Given the description of an element on the screen output the (x, y) to click on. 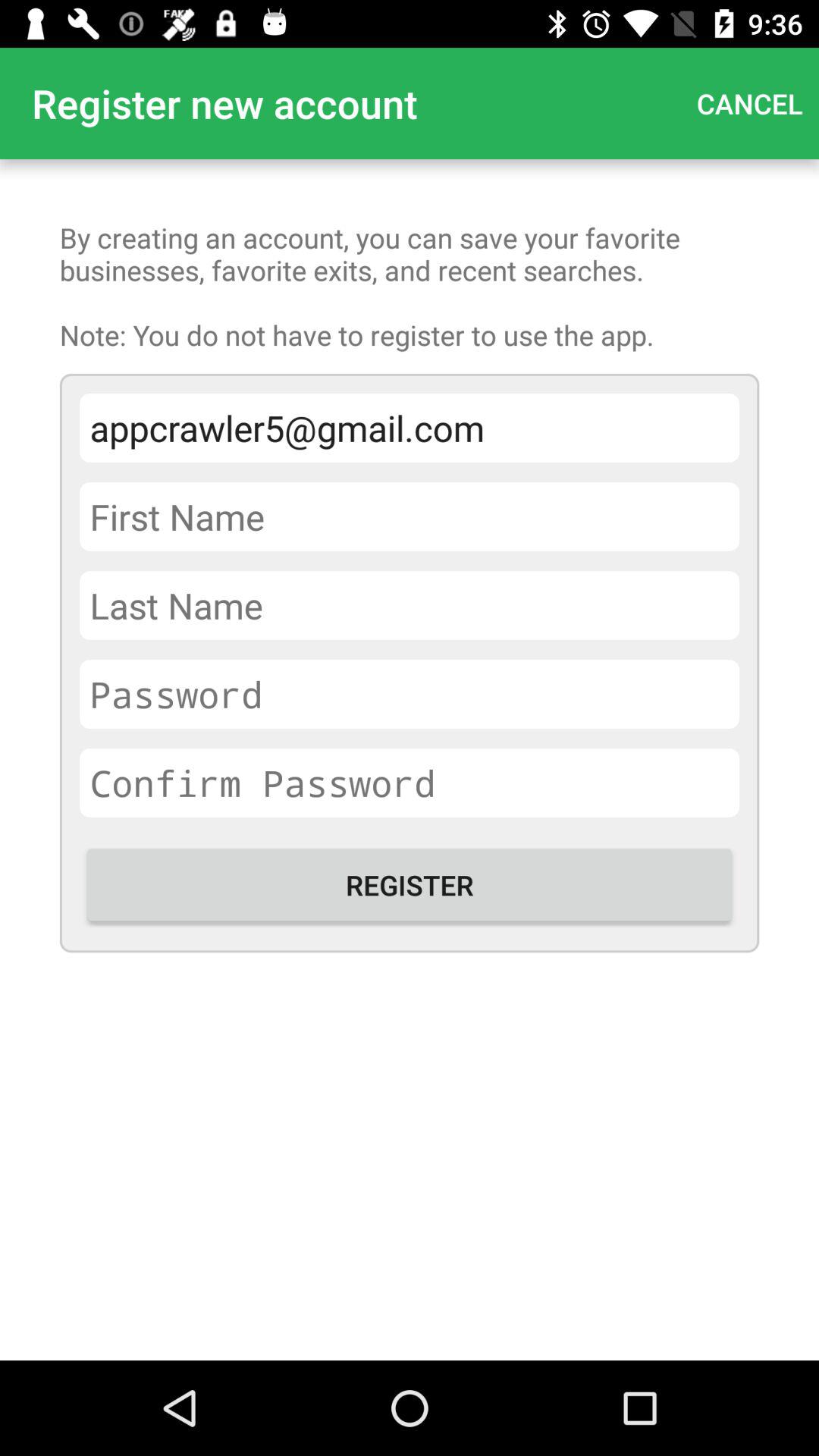
scroll until the cancel icon (749, 103)
